Given the description of an element on the screen output the (x, y) to click on. 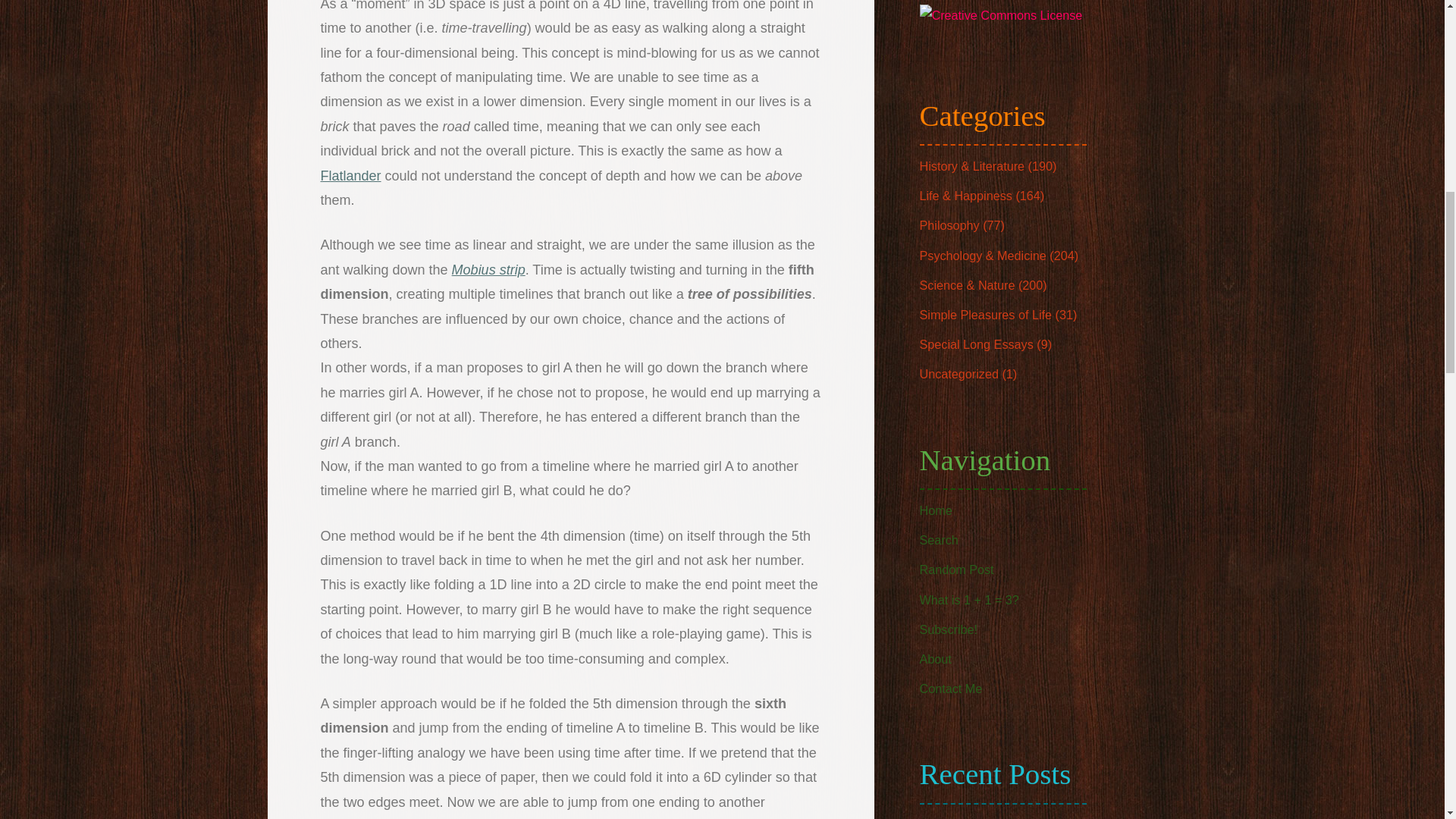
Mobius strip (488, 269)
Flatlander (350, 175)
